Given the description of an element on the screen output the (x, y) to click on. 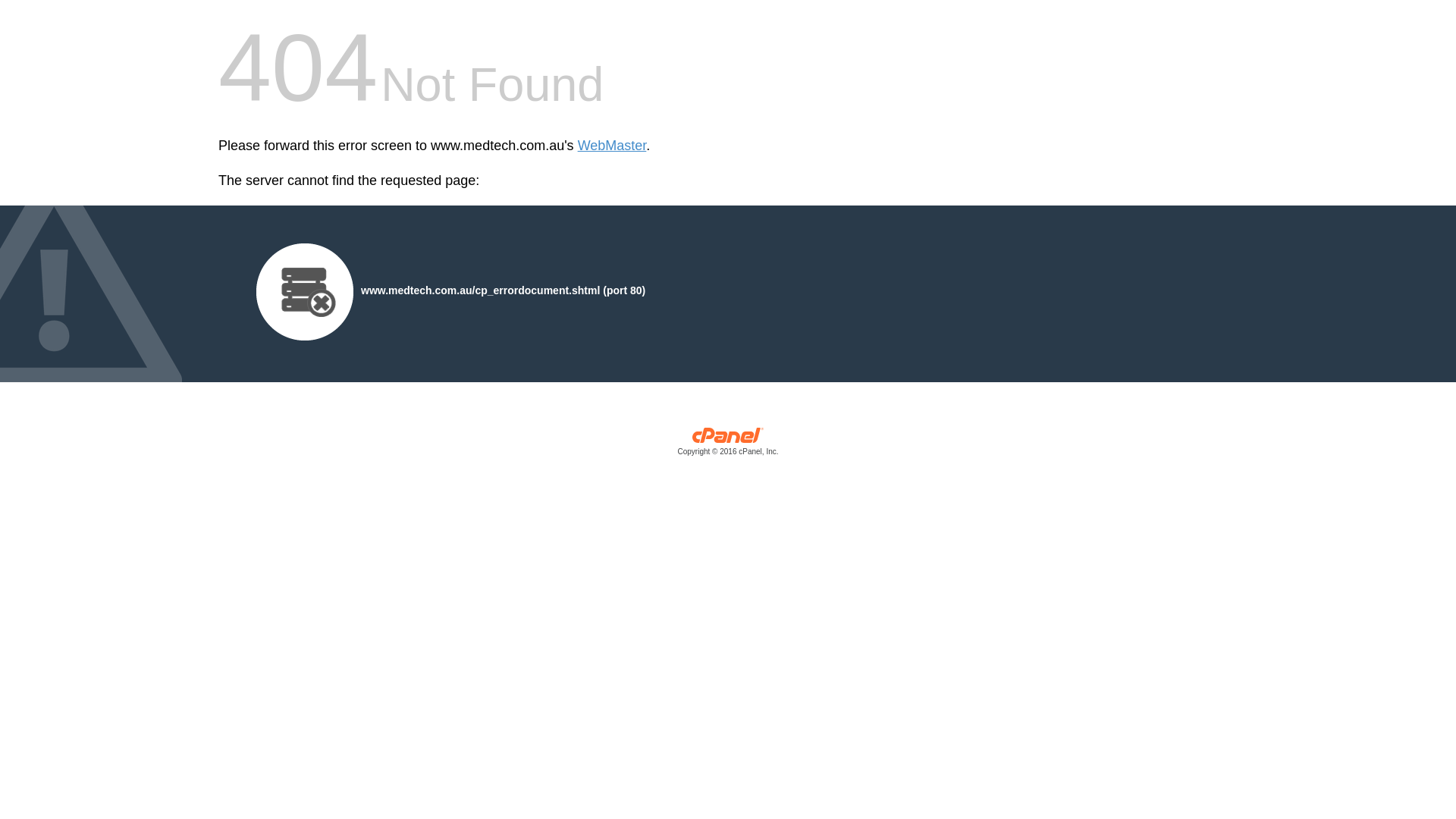
WebMaster Element type: text (611, 145)
